Given the description of an element on the screen output the (x, y) to click on. 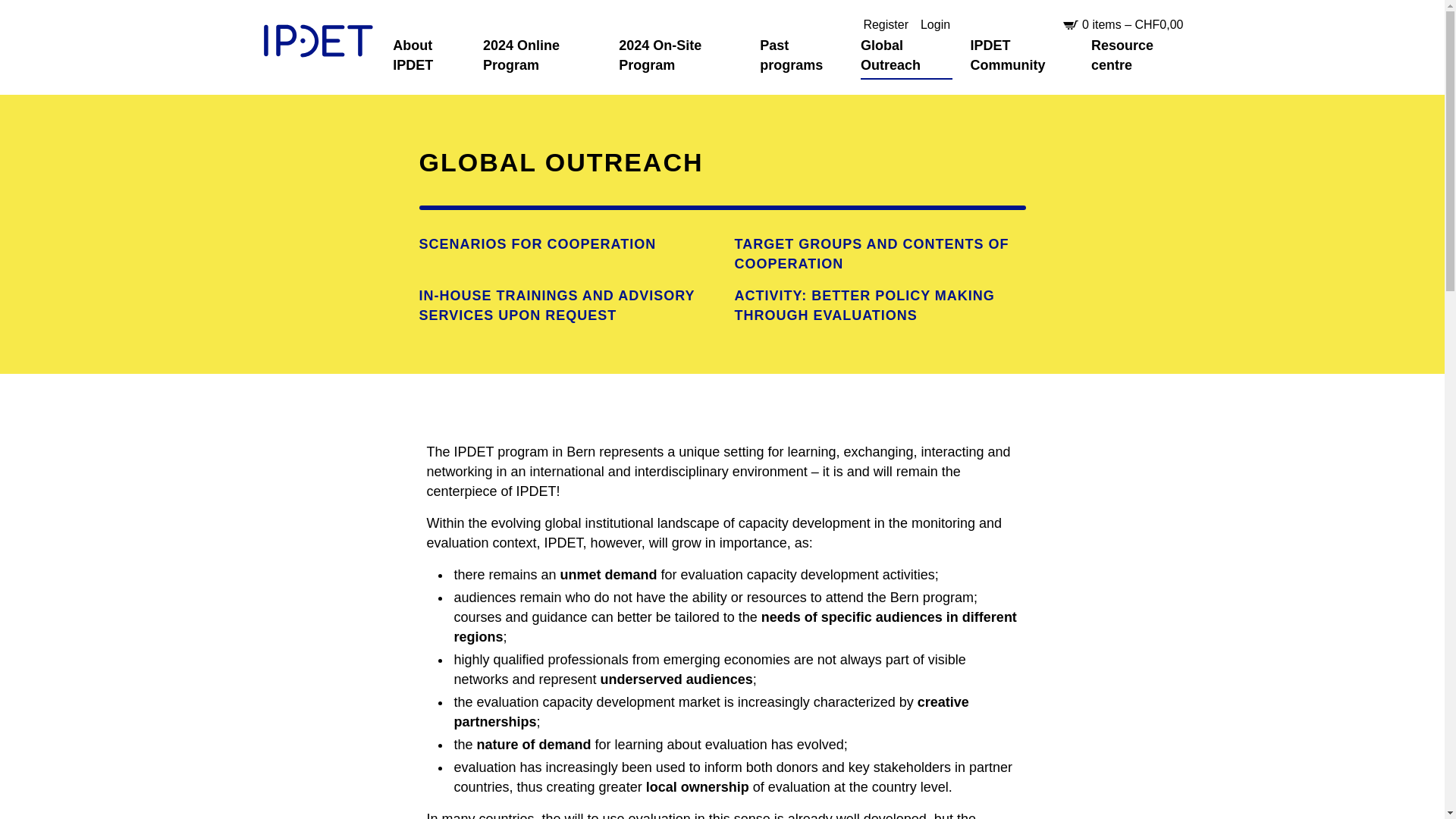
Past programs (801, 55)
View your shopping cart (1131, 24)
Global Outreach (906, 55)
IPDET Community (1022, 55)
2024 On-Site Program (679, 55)
Twitter (982, 24)
LinkedIn (1008, 24)
About IPDET (428, 55)
2024 Online Program (541, 55)
Go to homepage (317, 41)
